Given the description of an element on the screen output the (x, y) to click on. 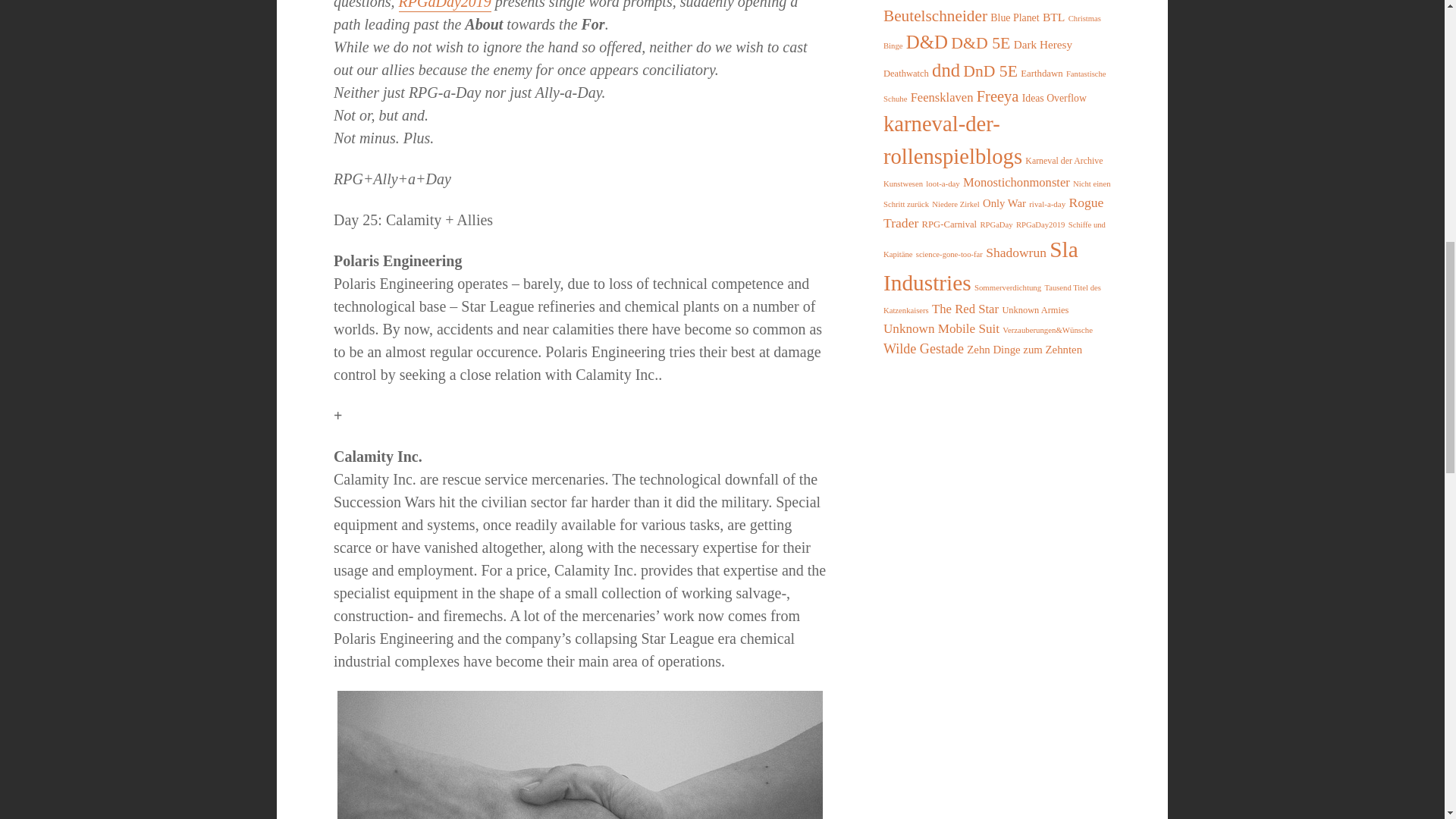
Christmas Binge (991, 32)
Beutelschneider (935, 15)
ADDKON (1011, 0)
BTL (1053, 16)
Blue Planet (1014, 17)
RPGaDay2019 (445, 6)
